Given the description of an element on the screen output the (x, y) to click on. 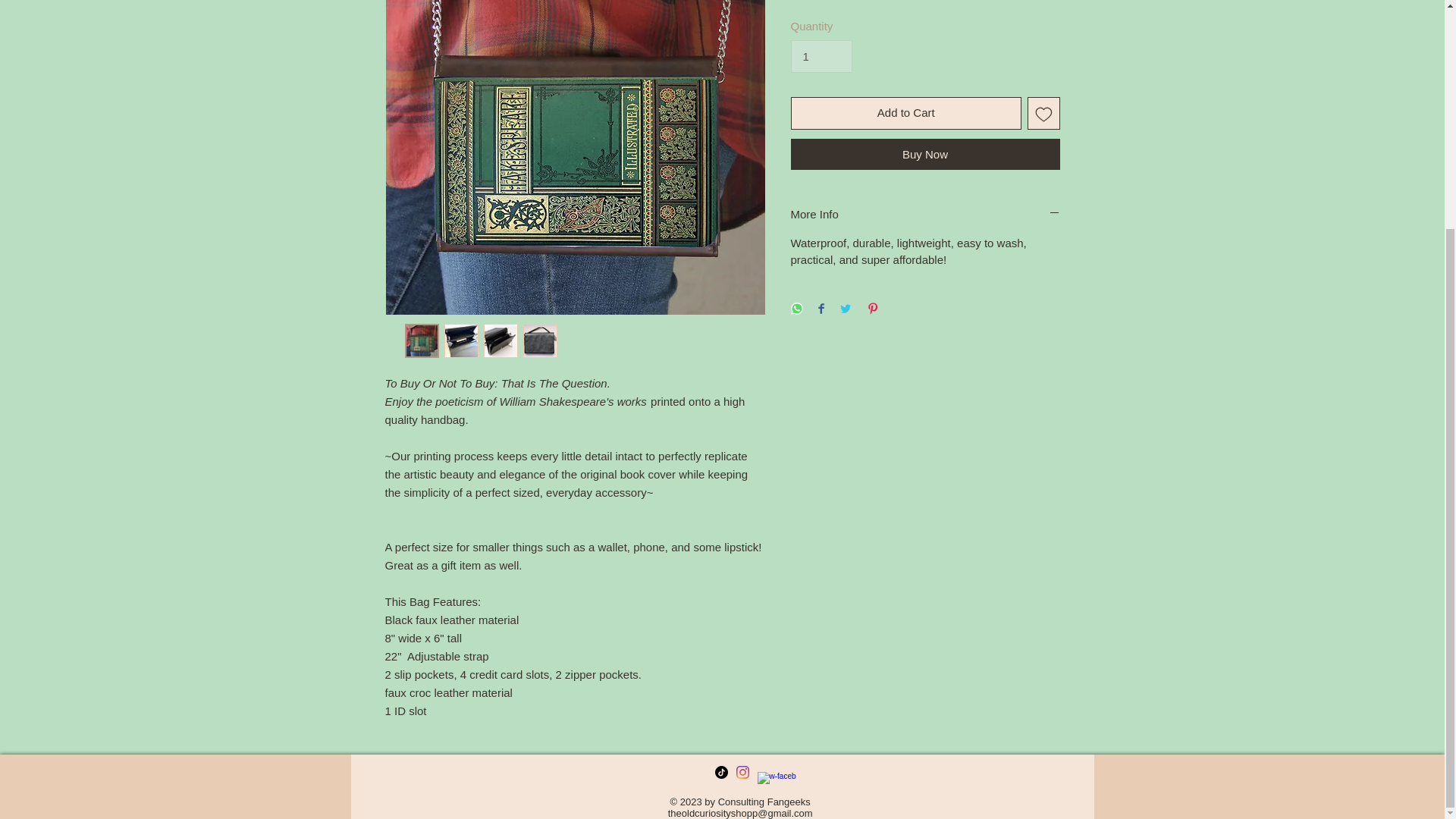
More Info (924, 213)
Buy Now (924, 153)
1 (820, 56)
Add to Cart (906, 113)
